Given the description of an element on the screen output the (x, y) to click on. 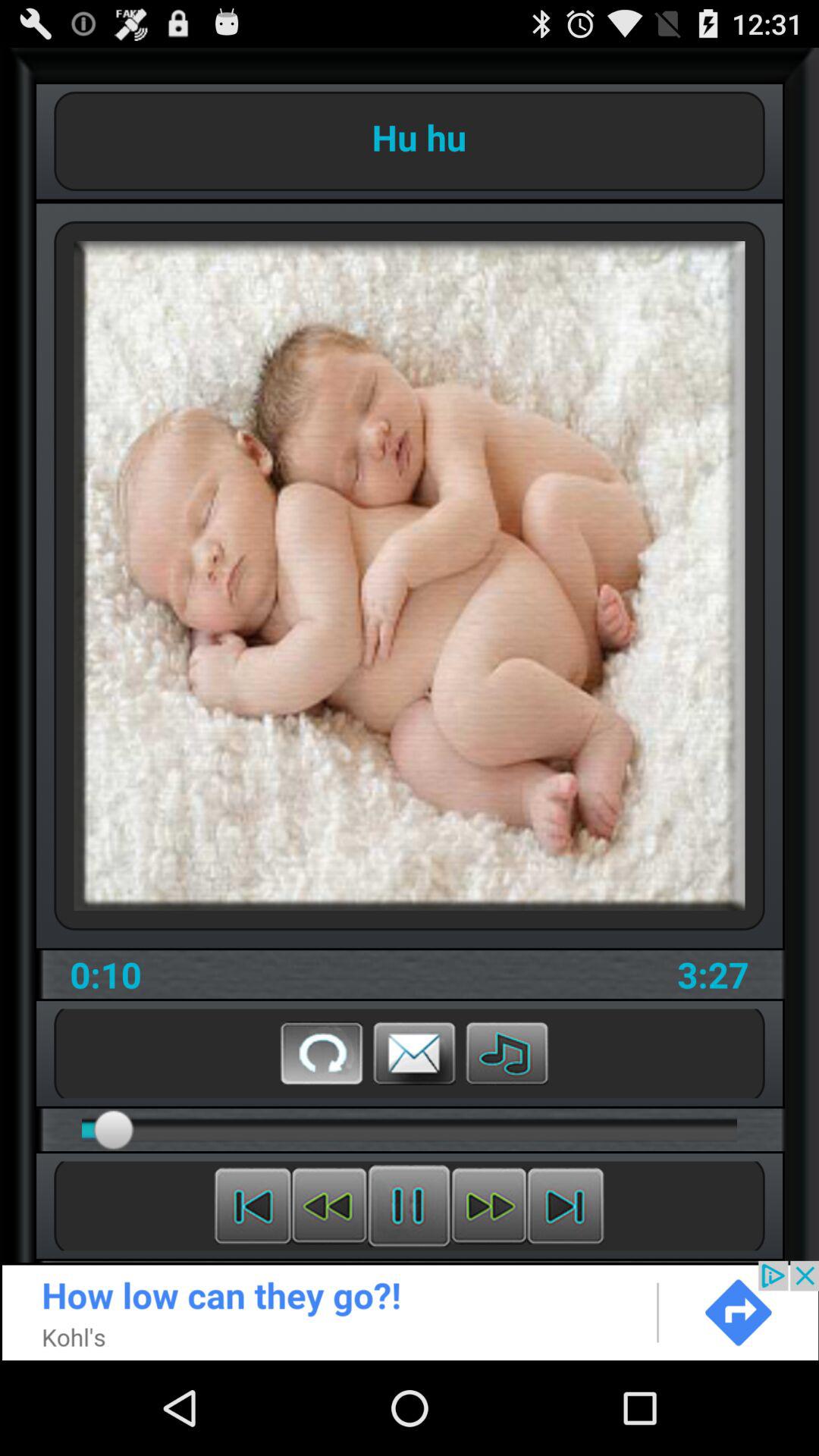
skip to next track (565, 1205)
